Given the description of an element on the screen output the (x, y) to click on. 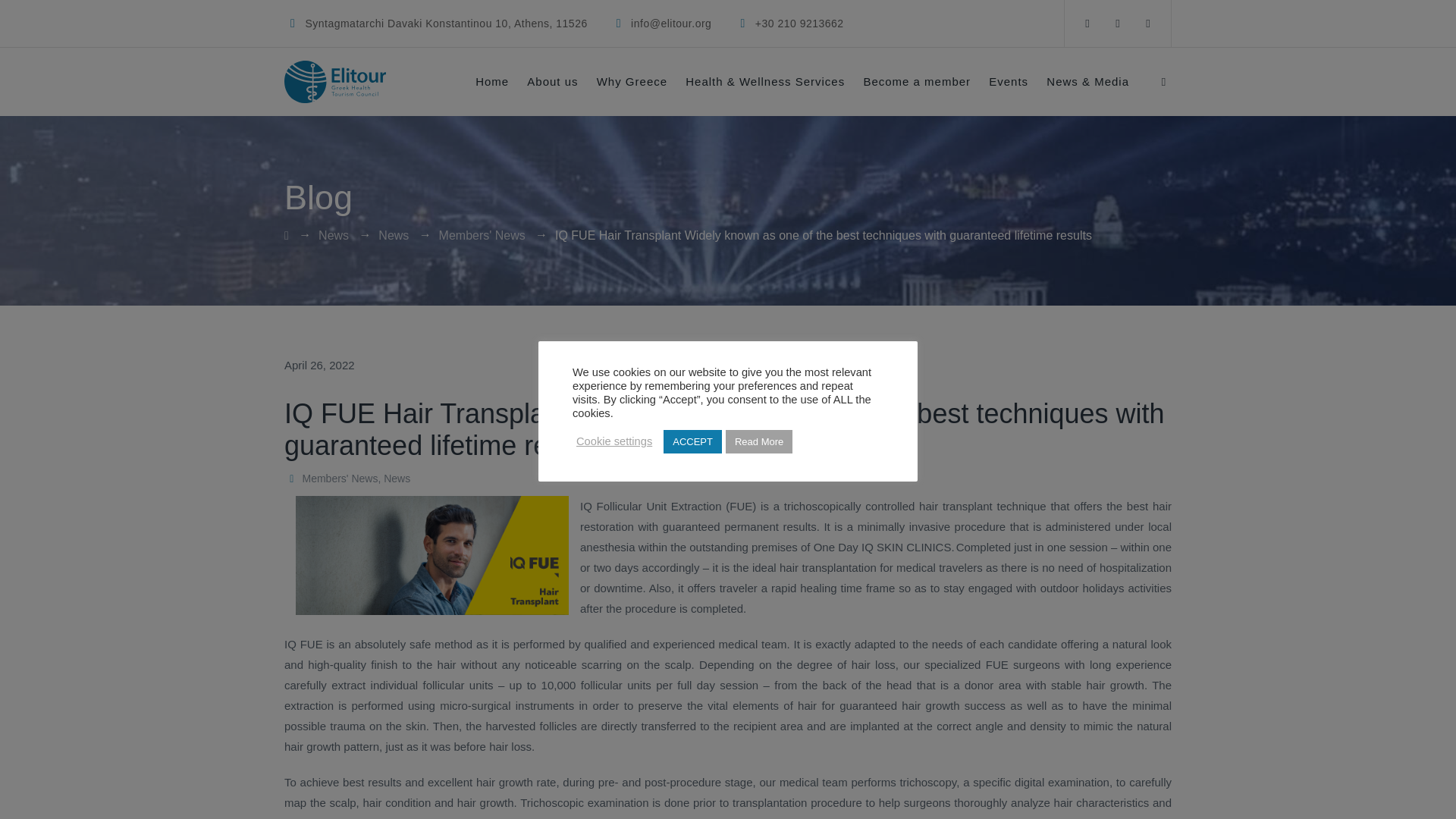
Go to the News Category archives. (393, 235)
Why Greece (631, 81)
Go to the Members' News Category archives. (482, 235)
Elitour (334, 81)
Become a member (917, 81)
Go to News. (333, 235)
